Given the description of an element on the screen output the (x, y) to click on. 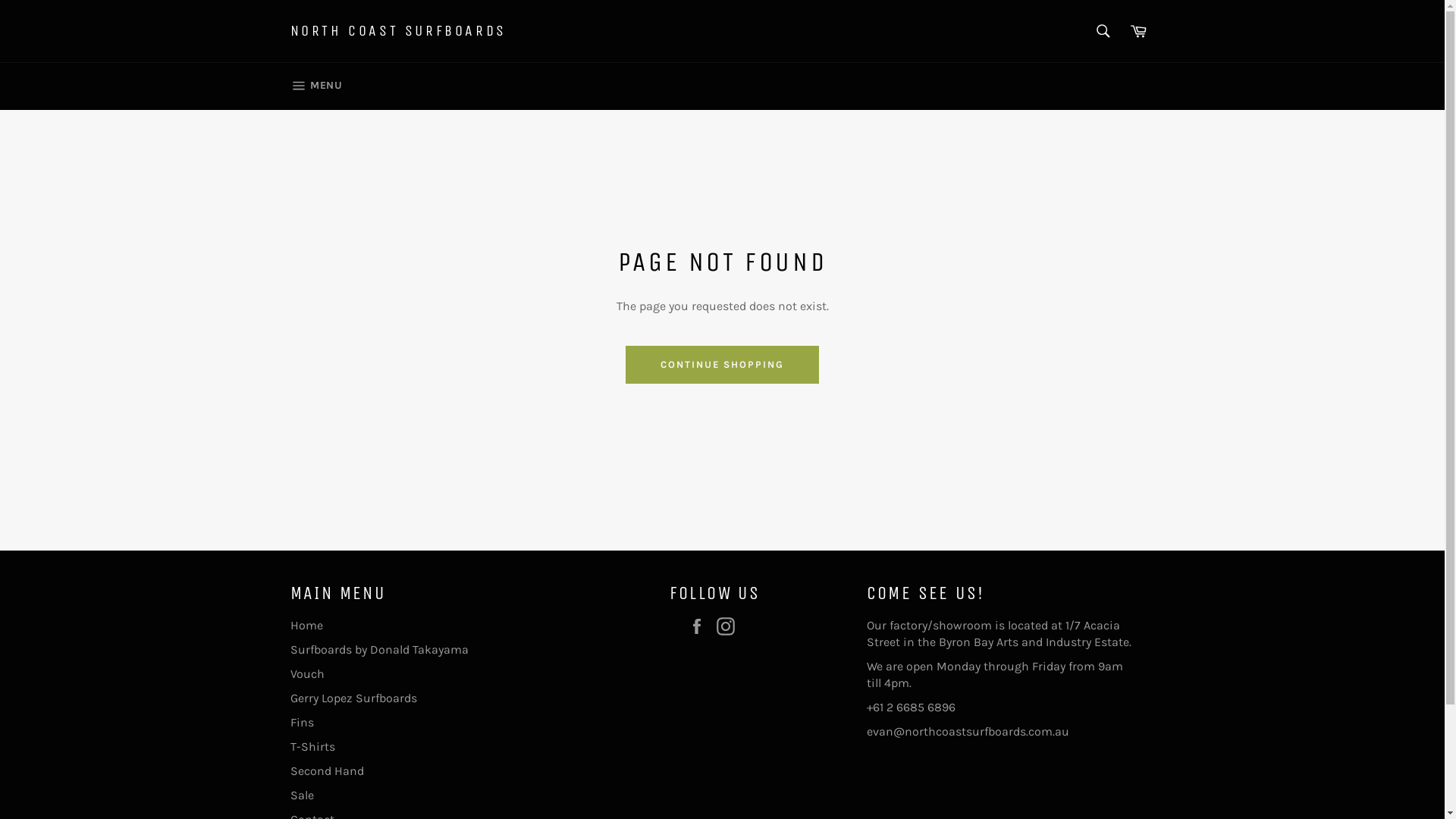
Surfboards by Donald Takayama Element type: text (378, 649)
Second Hand Element type: text (326, 770)
MENU
SITE NAVIGATION Element type: text (315, 85)
Instagram Element type: text (728, 626)
Gerry Lopez Surfboards Element type: text (352, 697)
Fins Element type: text (301, 722)
Search Element type: text (1103, 31)
T-Shirts Element type: text (311, 746)
NORTH COAST SURFBOARDS Element type: text (397, 30)
CONTINUE SHOPPING Element type: text (722, 364)
Sale Element type: text (301, 794)
Vouch Element type: text (306, 673)
Cart Element type: text (1138, 31)
Home Element type: text (305, 625)
Facebook Element type: text (699, 626)
